Given the description of an element on the screen output the (x, y) to click on. 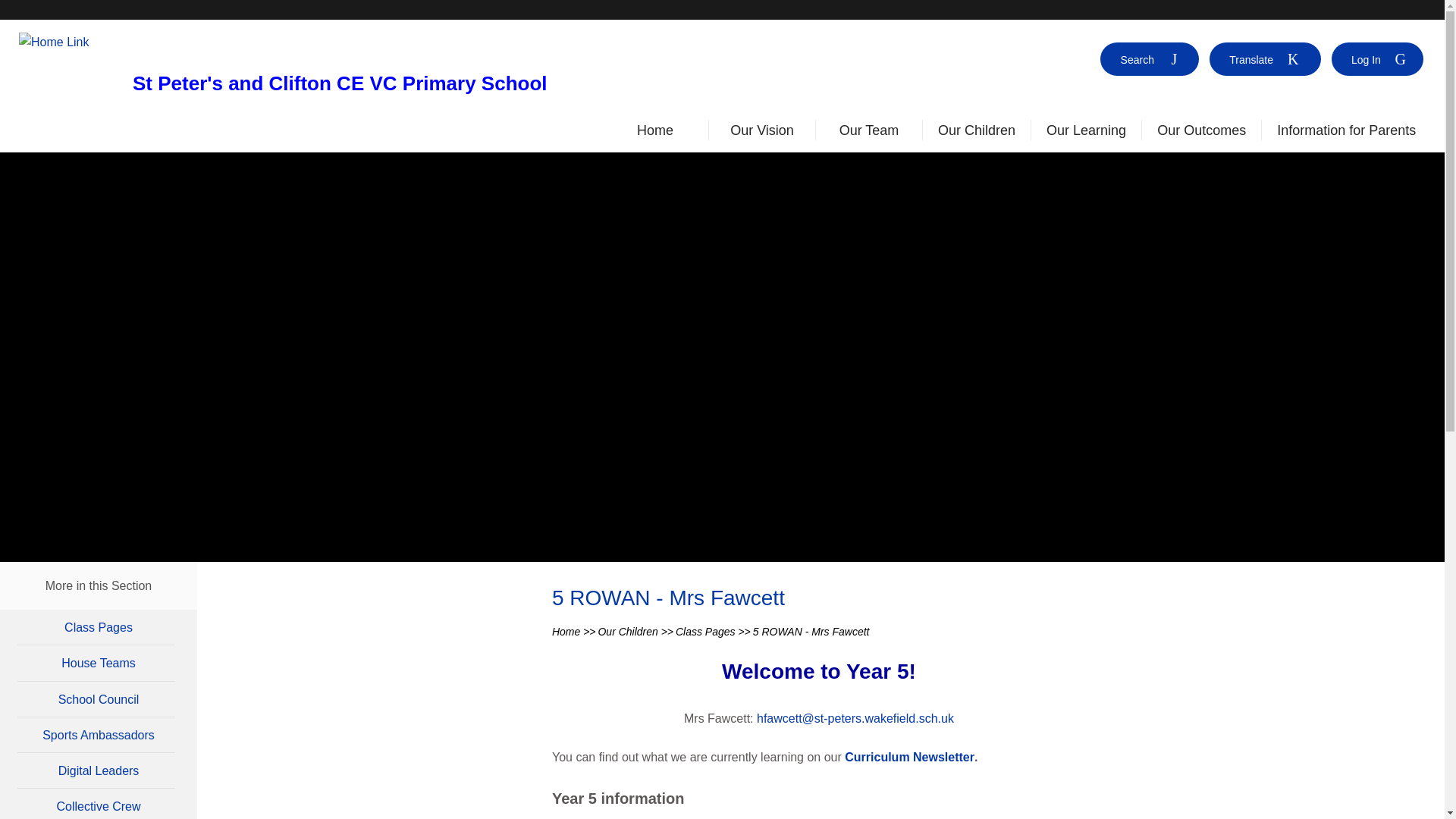
Our Children (975, 133)
Our Team (869, 133)
Our Vision (761, 133)
Home Page (70, 42)
Home (655, 133)
